Given the description of an element on the screen output the (x, y) to click on. 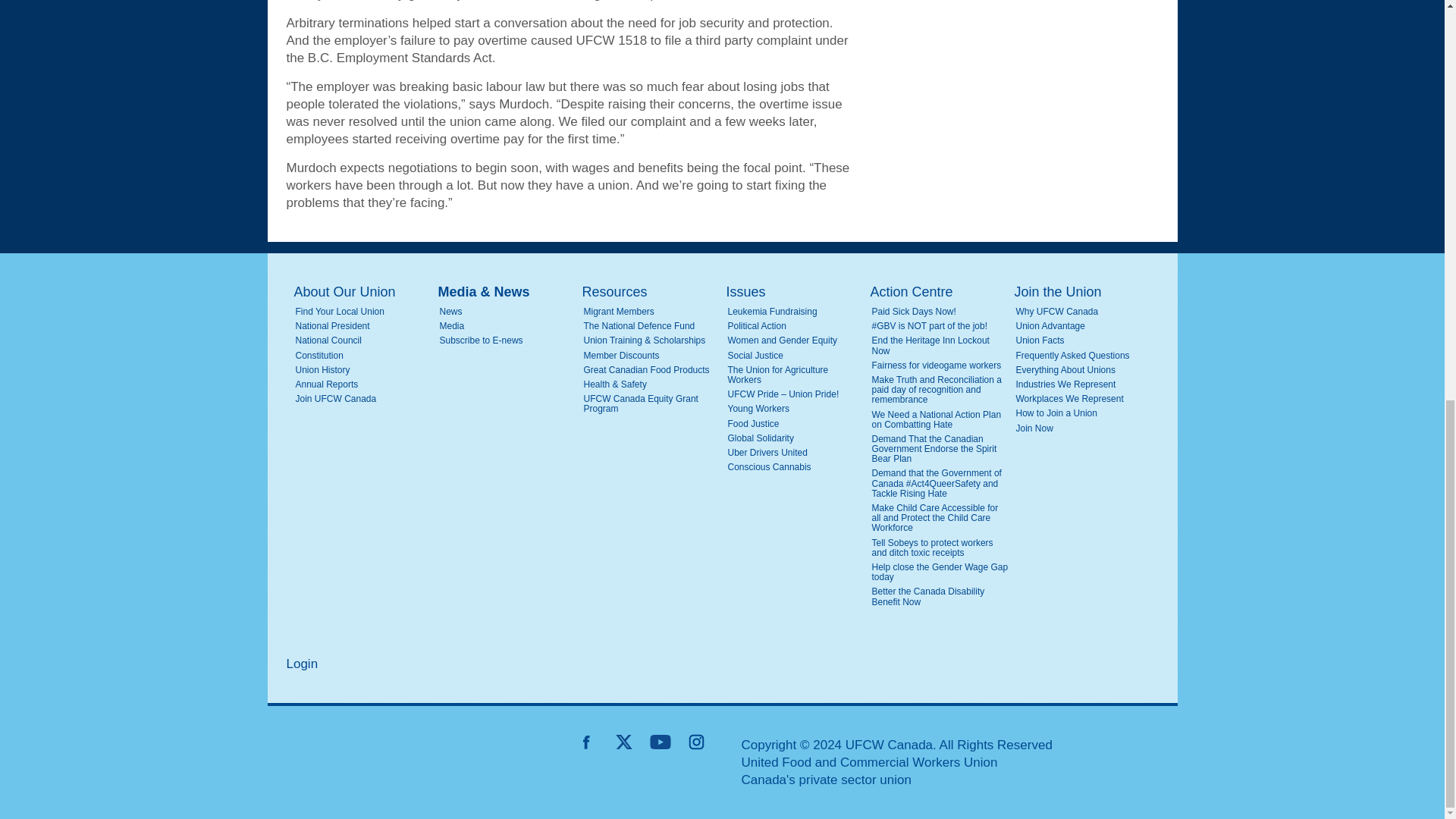
Join UFCW Canada (363, 398)
Annual Reports (363, 384)
  Instagram (695, 742)
Find Your Local Union (363, 311)
National Council (363, 340)
  X (623, 742)
  Facebook (587, 742)
National President (363, 326)
Union History (363, 370)
About Our Union (362, 292)
